Given the description of an element on the screen output the (x, y) to click on. 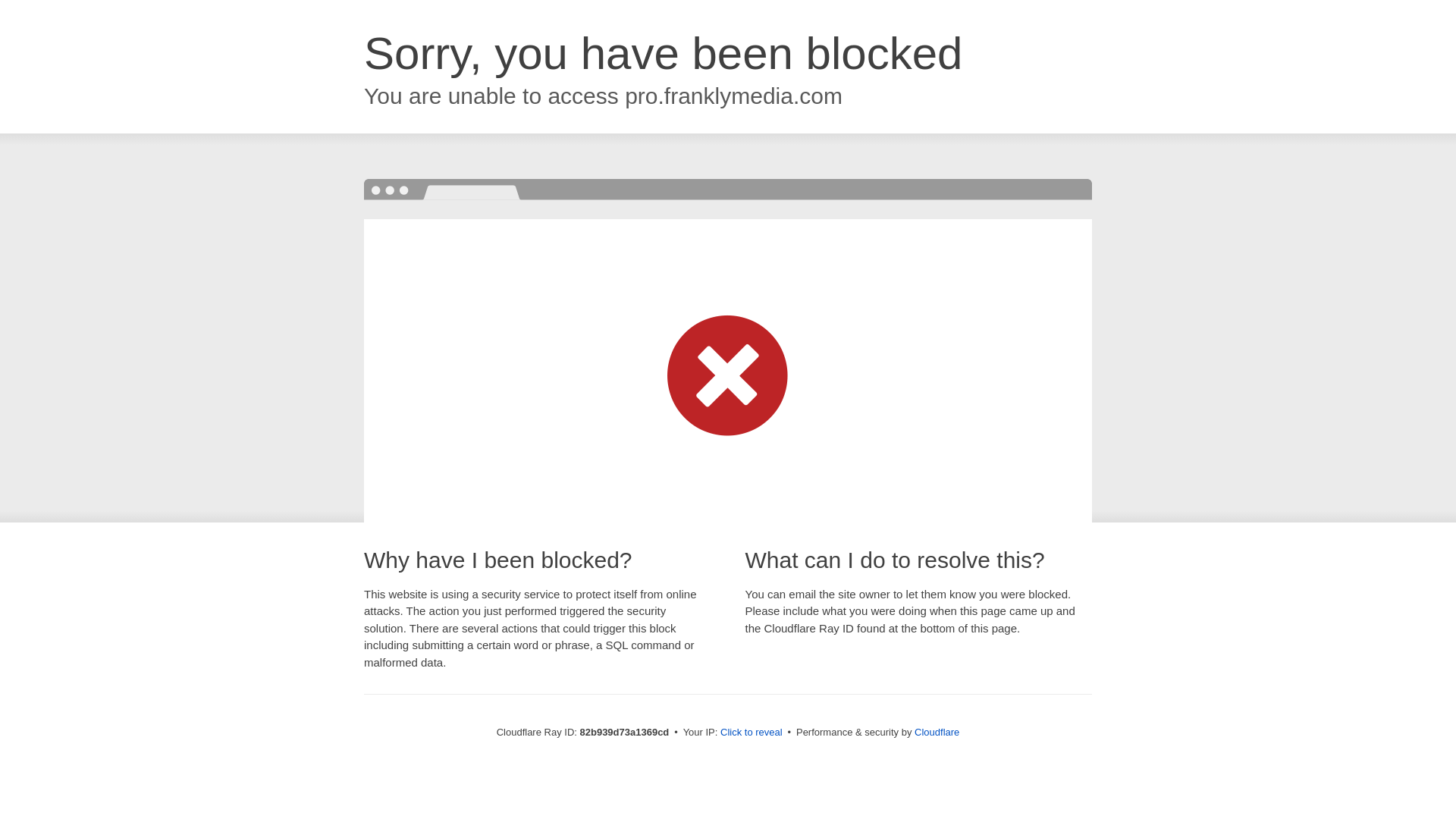
Cloudflare Element type: text (936, 731)
Click to reveal Element type: text (751, 732)
